Given the description of an element on the screen output the (x, y) to click on. 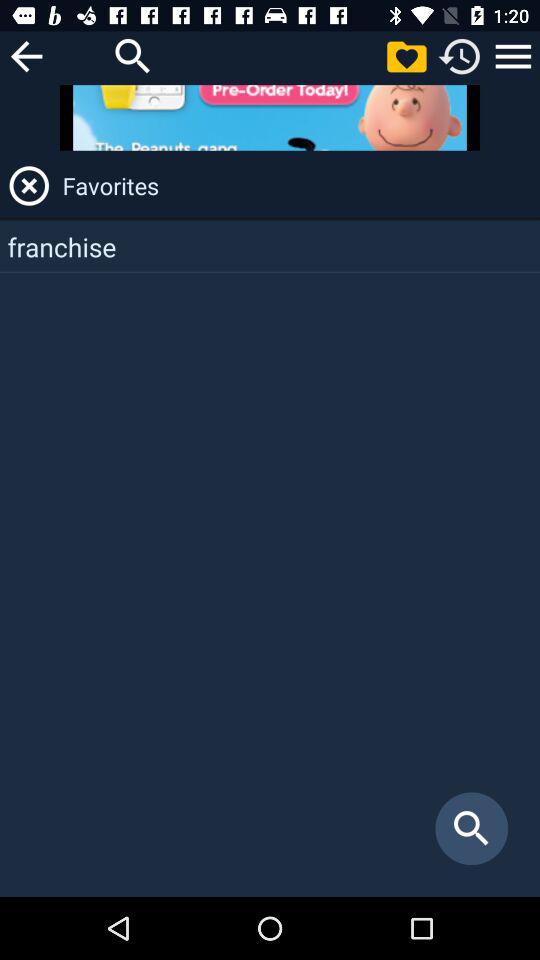
click the app next to the favorites app (29, 185)
